Given the description of an element on the screen output the (x, y) to click on. 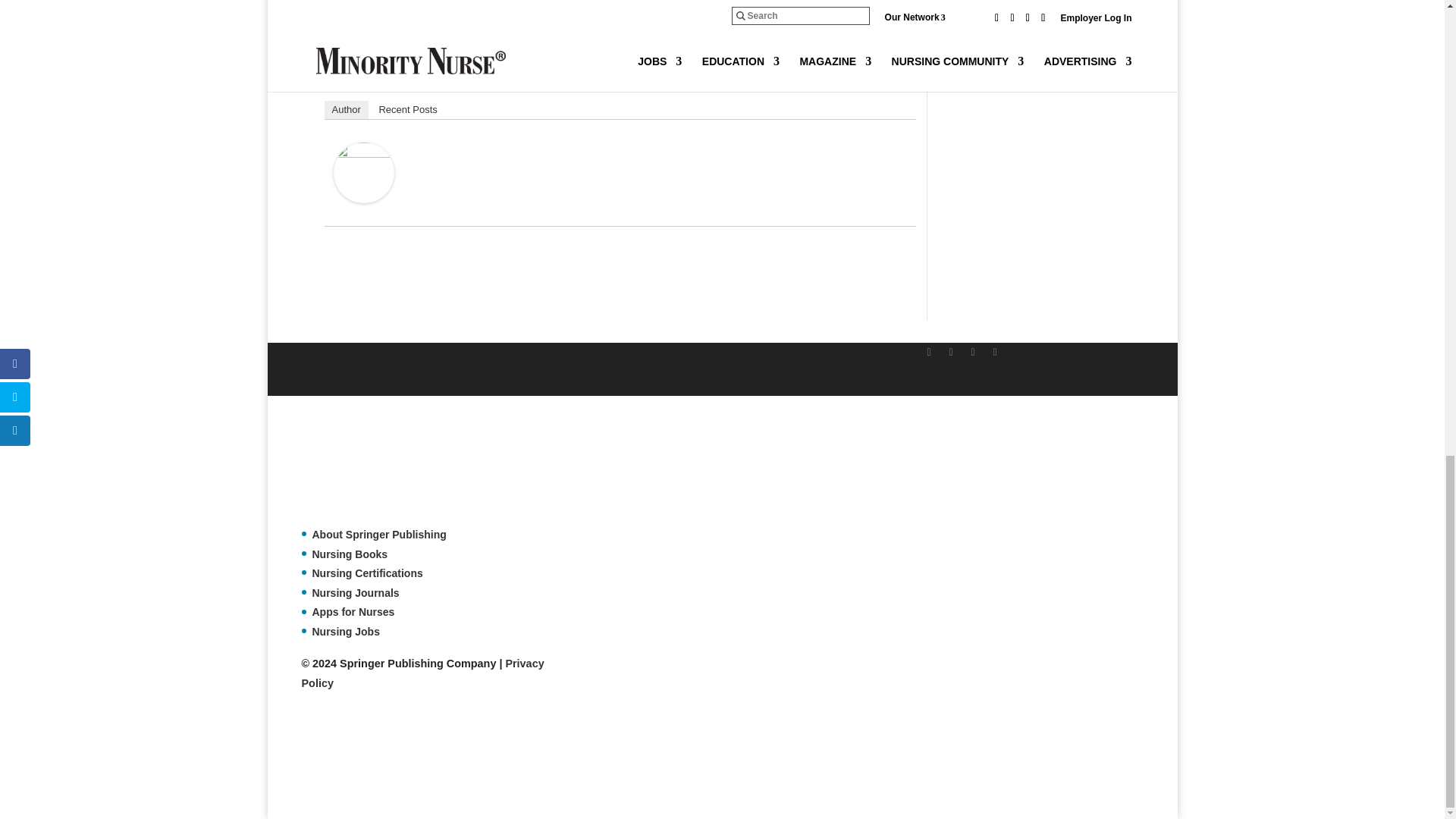
3rd party ad content (577, 762)
Springer Publishing Company (376, 468)
